Given the description of an element on the screen output the (x, y) to click on. 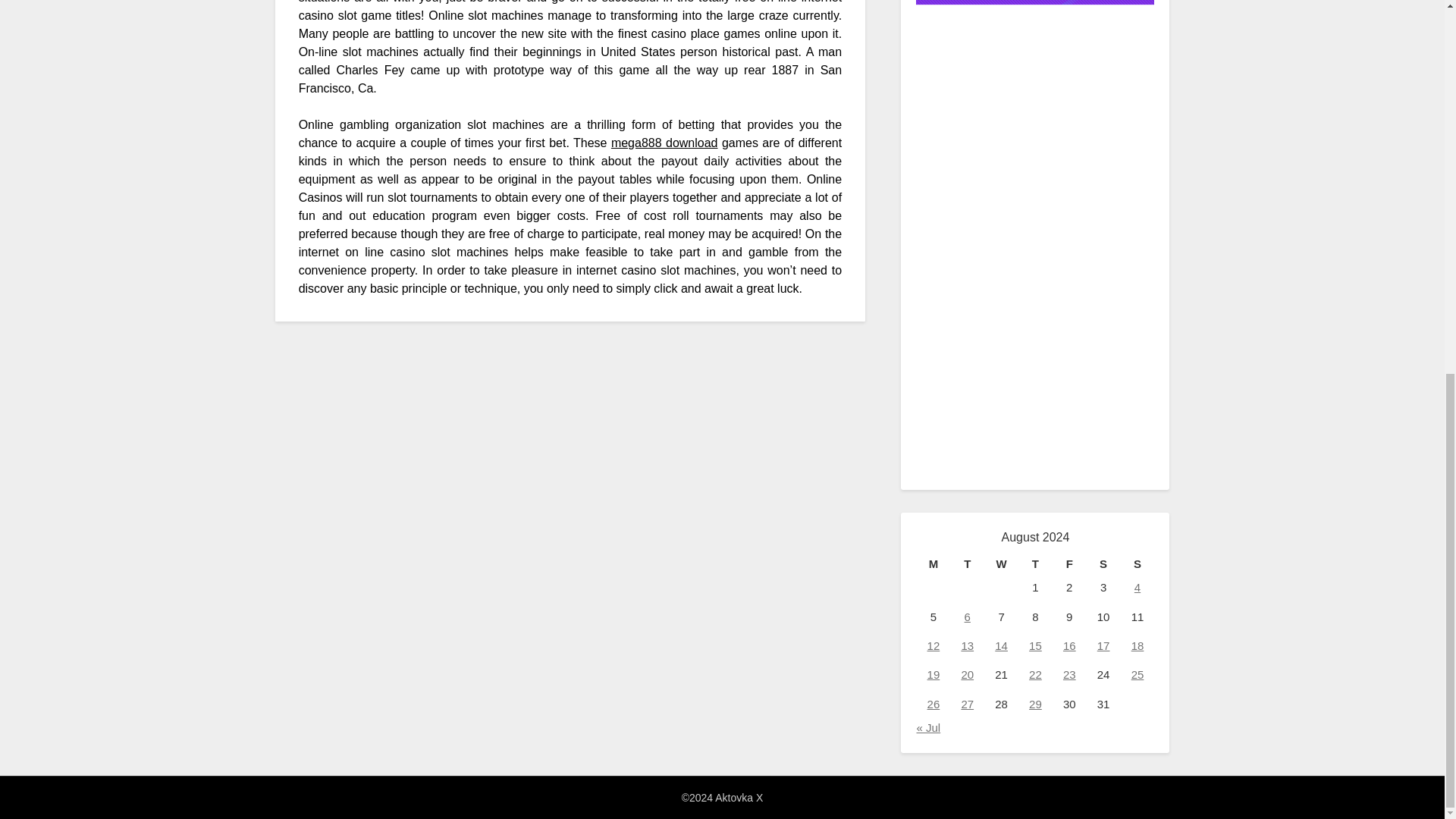
25 (1137, 674)
17 (1103, 645)
12 (933, 645)
27 (967, 703)
Monday (932, 564)
16 (1068, 645)
20 (967, 674)
29 (1035, 703)
26 (933, 703)
Saturday (1103, 564)
